Given the description of an element on the screen output the (x, y) to click on. 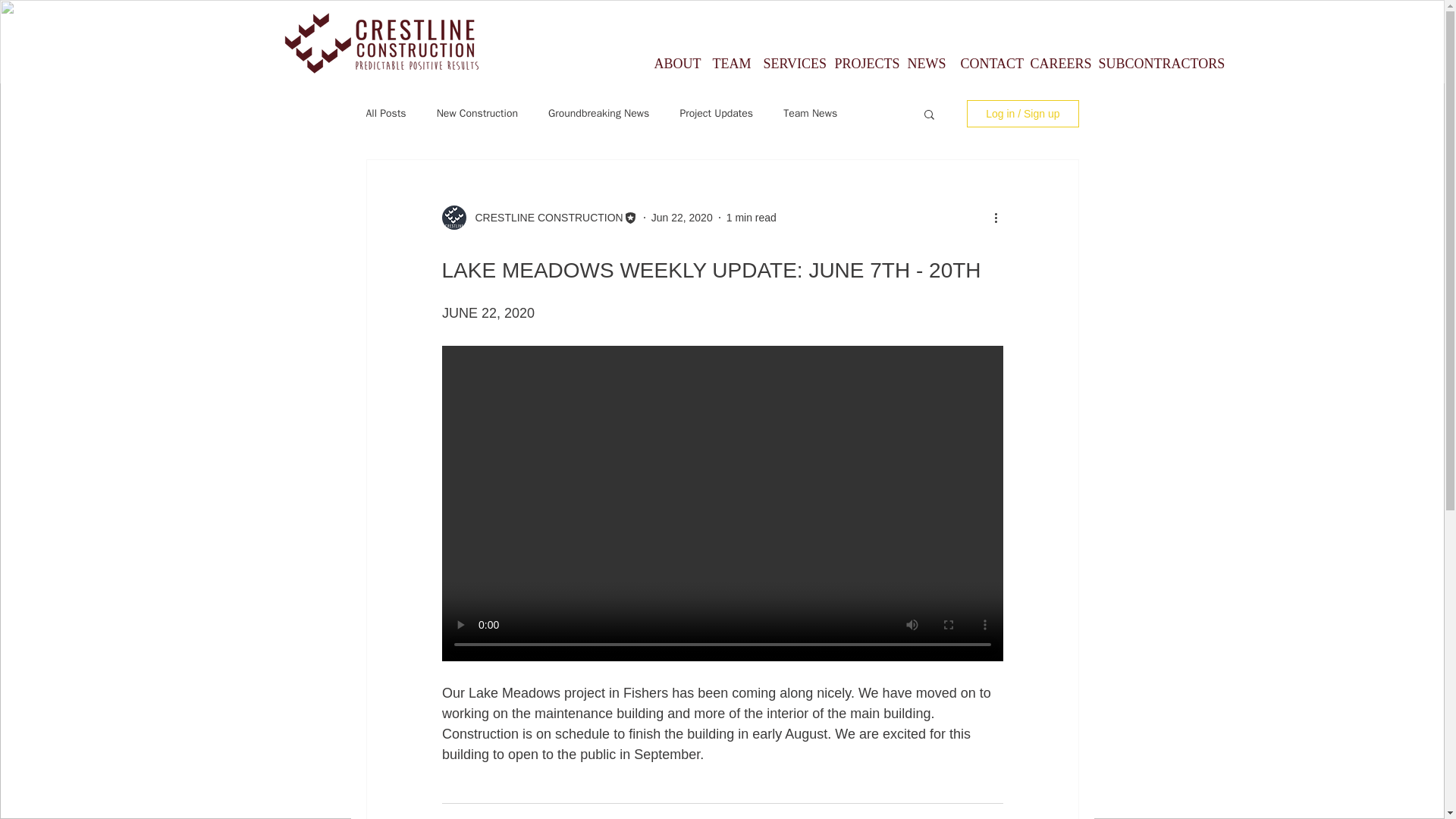
CAREERS (1053, 63)
Jun 22, 2020 (681, 216)
1 min read (751, 216)
NEWS (922, 63)
All Posts (385, 113)
CONTACT (984, 63)
SERVICES (788, 63)
Project Updates (715, 113)
CRESTLINE CONSTRUCTION (544, 217)
ABOUT (672, 63)
PROJECTS (860, 63)
New Construction (477, 113)
SUBCONTRACTORS (1147, 63)
TEAM (725, 63)
Team News (810, 113)
